Given the description of an element on the screen output the (x, y) to click on. 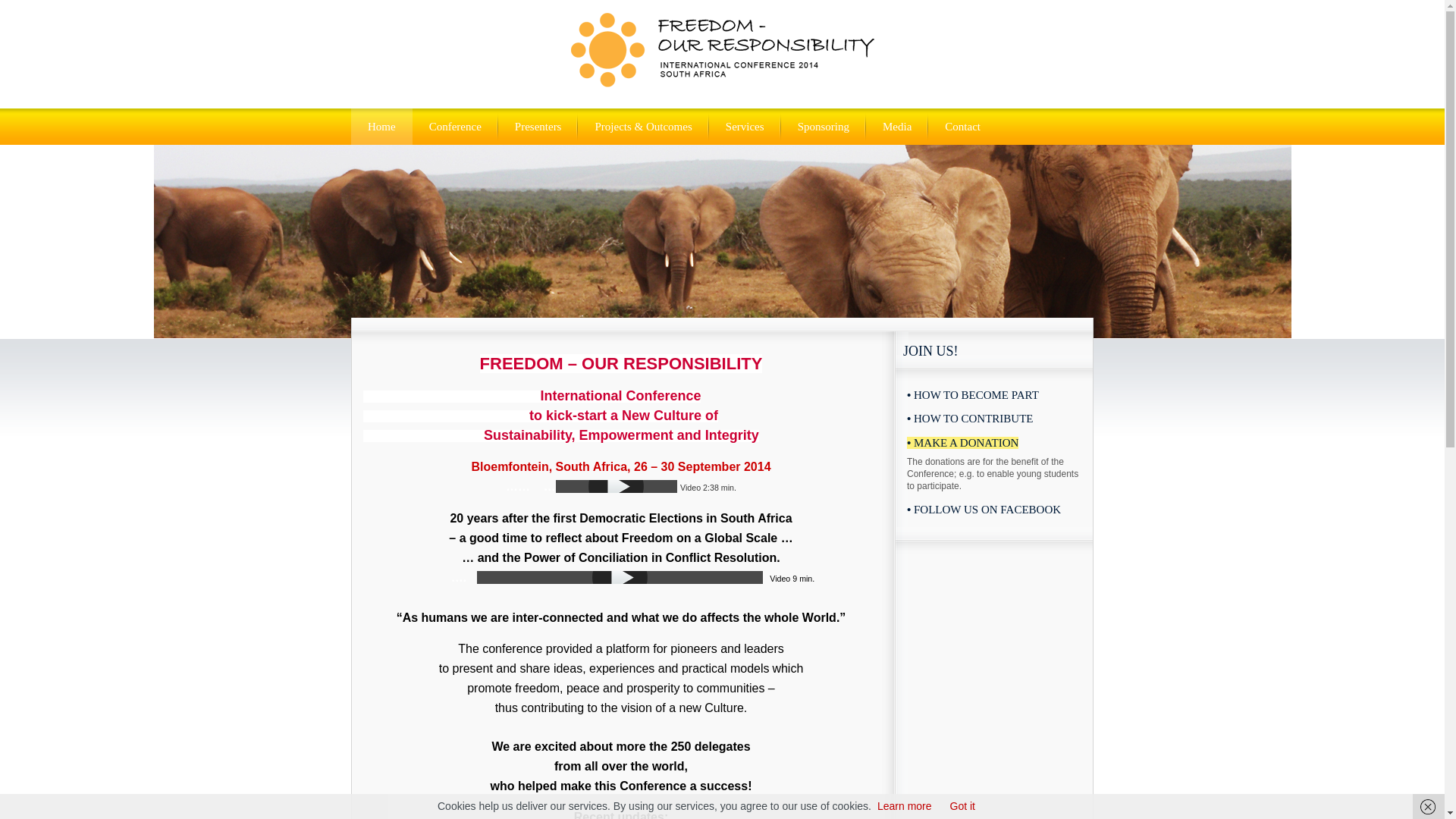
zafor (721, 79)
Services (744, 126)
Home (381, 126)
Presenters (537, 126)
Conference (454, 126)
